Given the description of an element on the screen output the (x, y) to click on. 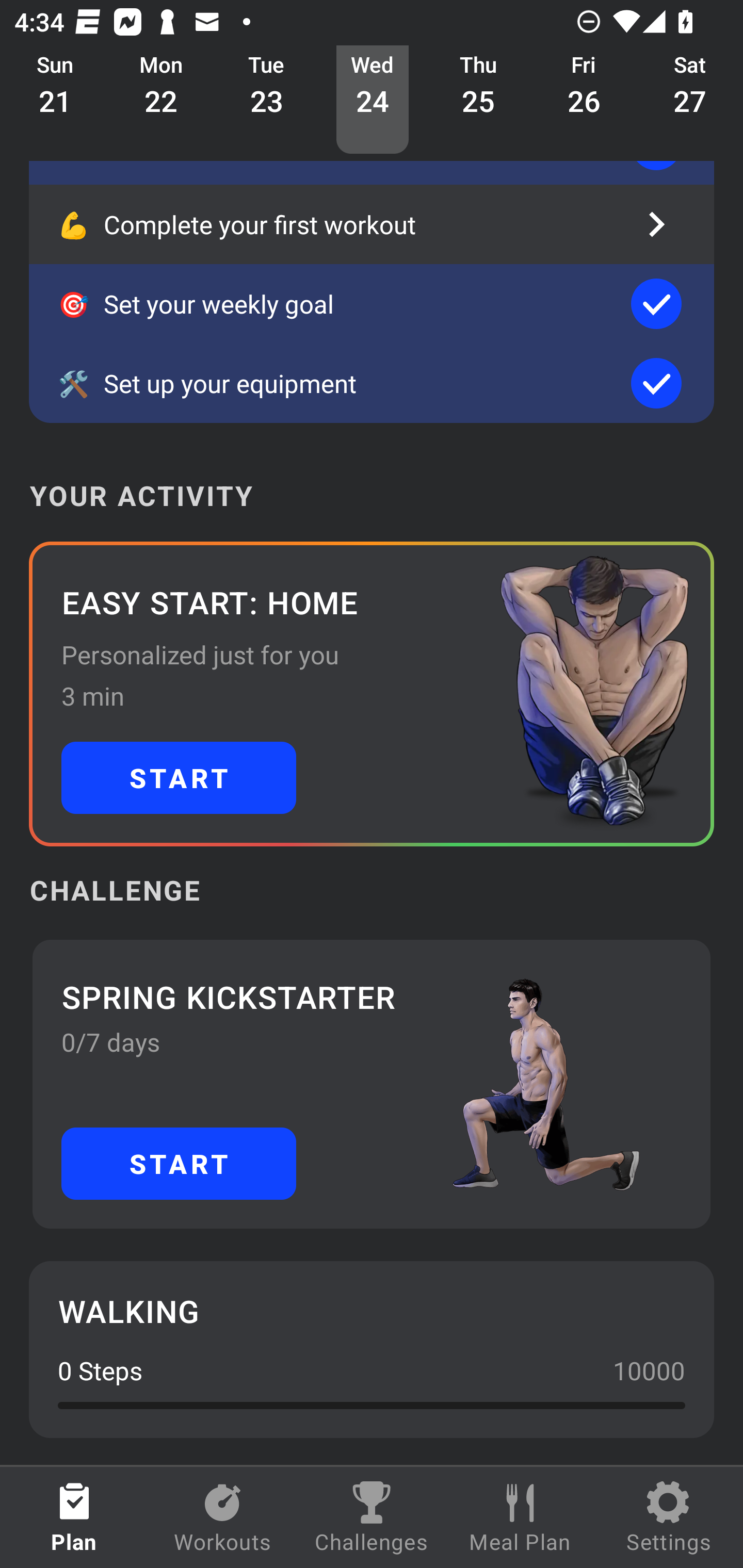
Sun 21 (55, 99)
Mon 22 (160, 99)
Tue 23 (266, 99)
Wed 24 (372, 99)
Thu 25 (478, 99)
Fri 26 (584, 99)
Sat 27 (690, 99)
💪 Complete your first workout (371, 224)
START (178, 777)
SPRING KICKSTARTER 0/7 days START (371, 1084)
START (178, 1163)
WALKING 0 Steps 10000 0.0 (371, 1348)
 Workouts  (222, 1517)
 Challenges  (371, 1517)
 Meal Plan  (519, 1517)
 Settings  (668, 1517)
